Given the description of an element on the screen output the (x, y) to click on. 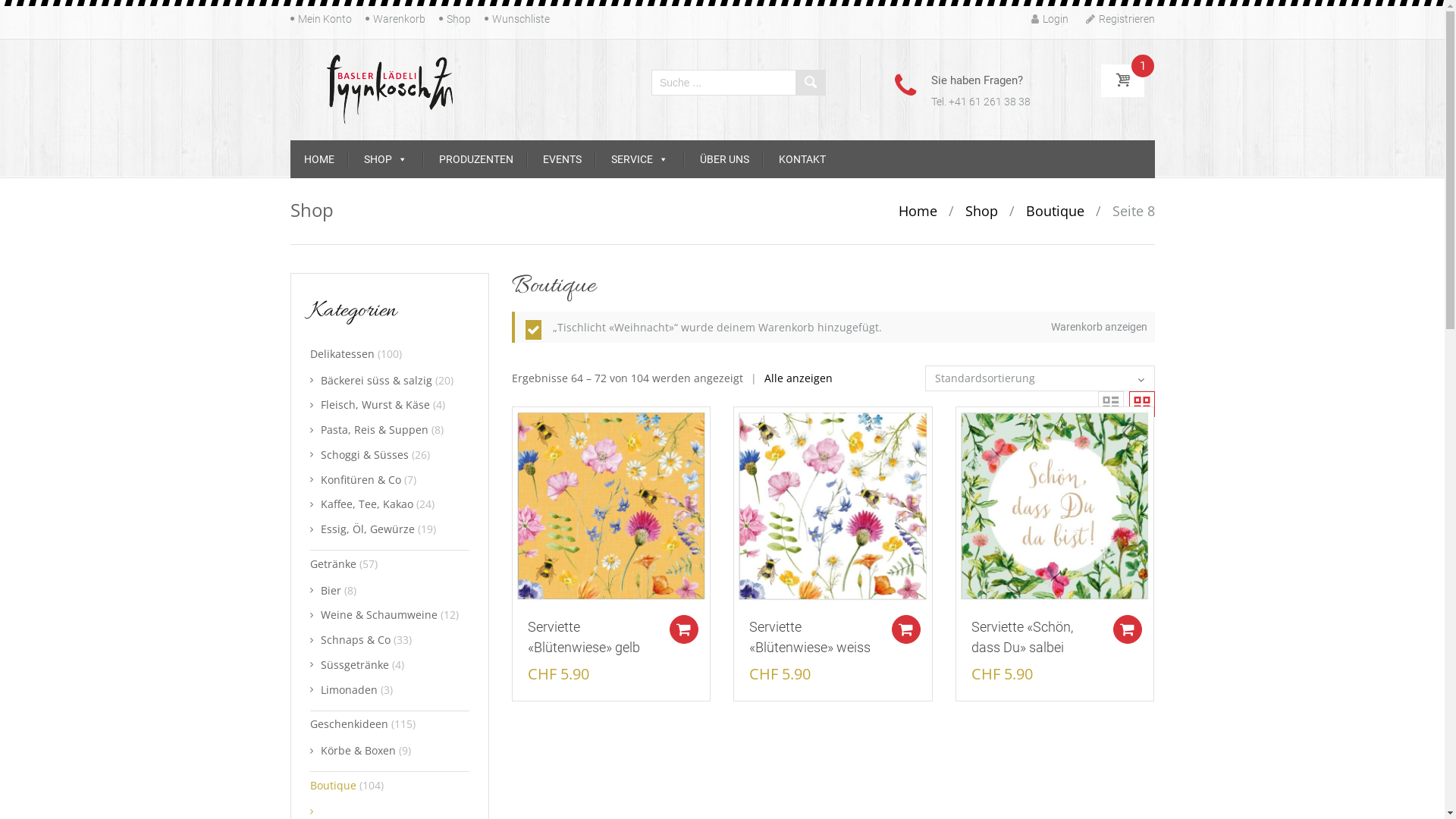
Warenkorb Element type: text (399, 18)
Boutique Element type: text (1054, 210)
Grid View Element type: hover (1141, 404)
Kaffee, Tee, Kakao Element type: text (366, 503)
Registrieren Element type: text (1119, 19)
Geschenkideen Element type: text (348, 723)
HOME Element type: text (318, 159)
Add to cart Element type: text (683, 629)
Boutique Element type: text (332, 785)
Shop Element type: text (457, 18)
Add to cart Element type: hover (683, 629)
Login Element type: text (1049, 19)
Schnaps & Co Element type: text (354, 639)
Pasta, Reis & Suppen Element type: text (373, 429)
PRODUZENTEN Element type: text (475, 159)
Home Element type: text (916, 210)
View details Element type: hover (832, 504)
Add to cart Element type: hover (1127, 629)
Add to cart Element type: hover (905, 629)
Delikatessen Element type: text (341, 353)
Weine & Schaumweine Element type: text (378, 614)
Finden Element type: hover (809, 82)
KONTAKT Element type: text (801, 159)
Warenkorb anzeigen Element type: text (1099, 326)
Shop Element type: text (980, 210)
EVENTS Element type: text (562, 159)
Skip to content Element type: text (289, 139)
Mein Konto Element type: text (324, 18)
Wunschliste Element type: text (520, 18)
Skip to content Element type: text (289, 10)
Add to cart Element type: text (905, 629)
Bier Element type: text (330, 590)
Limonaden Element type: text (348, 688)
SHOP Element type: text (385, 159)
View details Element type: hover (1054, 504)
Add to cart Element type: text (1127, 629)
Basler Fyynkoscht Element type: hover (389, 88)
View details Element type: hover (611, 504)
List View Element type: hover (1110, 404)
SERVICE Element type: text (639, 159)
Alle anzeigen Element type: text (787, 378)
